Given the description of an element on the screen output the (x, y) to click on. 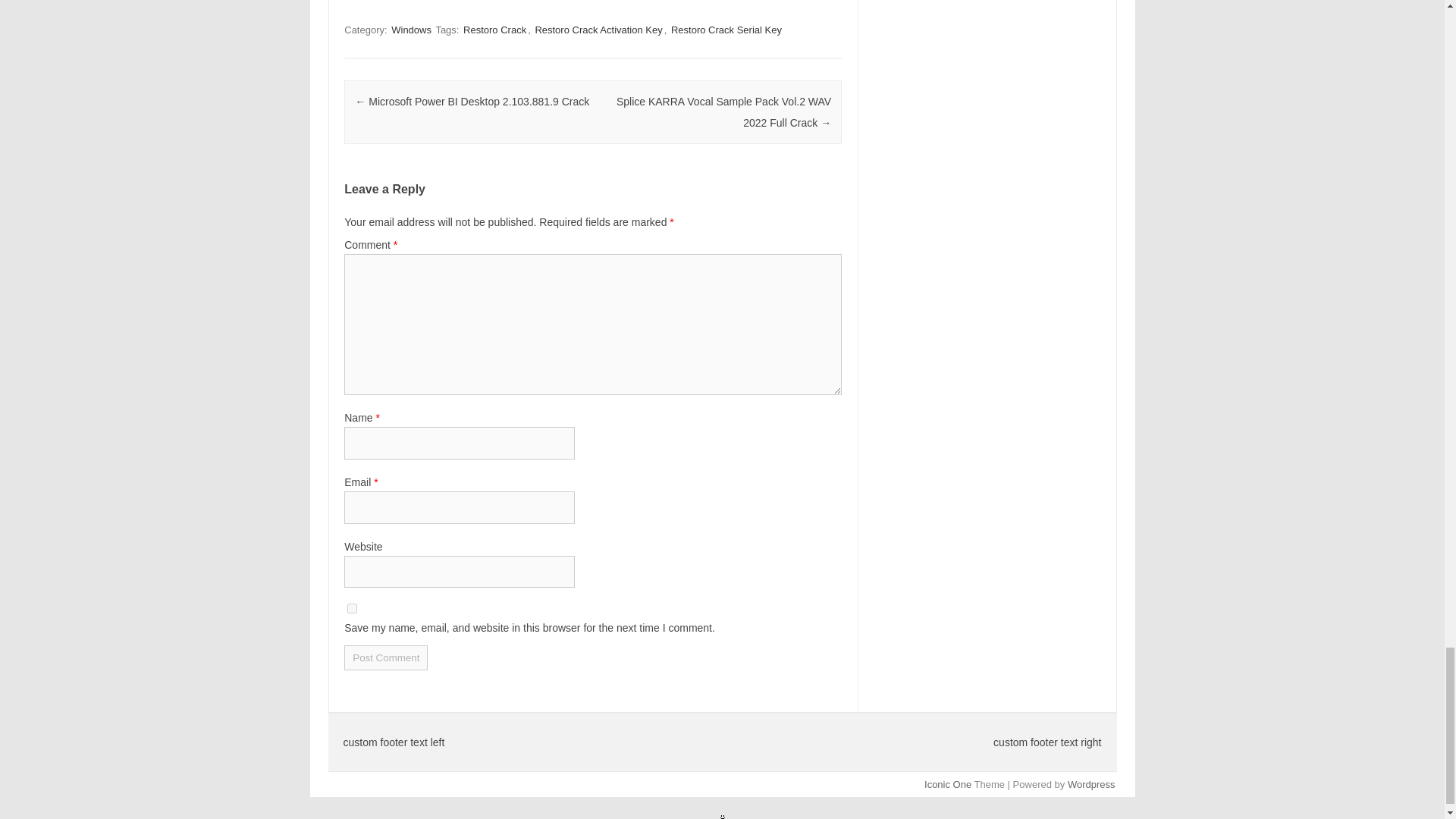
Email (419, 1)
Restoro Crack Activation Key (597, 29)
Facebook (358, 1)
Post Comment (385, 657)
Restoro Crack Serial Key (726, 29)
Windows (411, 29)
Facebook (358, 1)
Twitter (389, 1)
Twitter (389, 1)
Post Comment (385, 657)
